Given the description of an element on the screen output the (x, y) to click on. 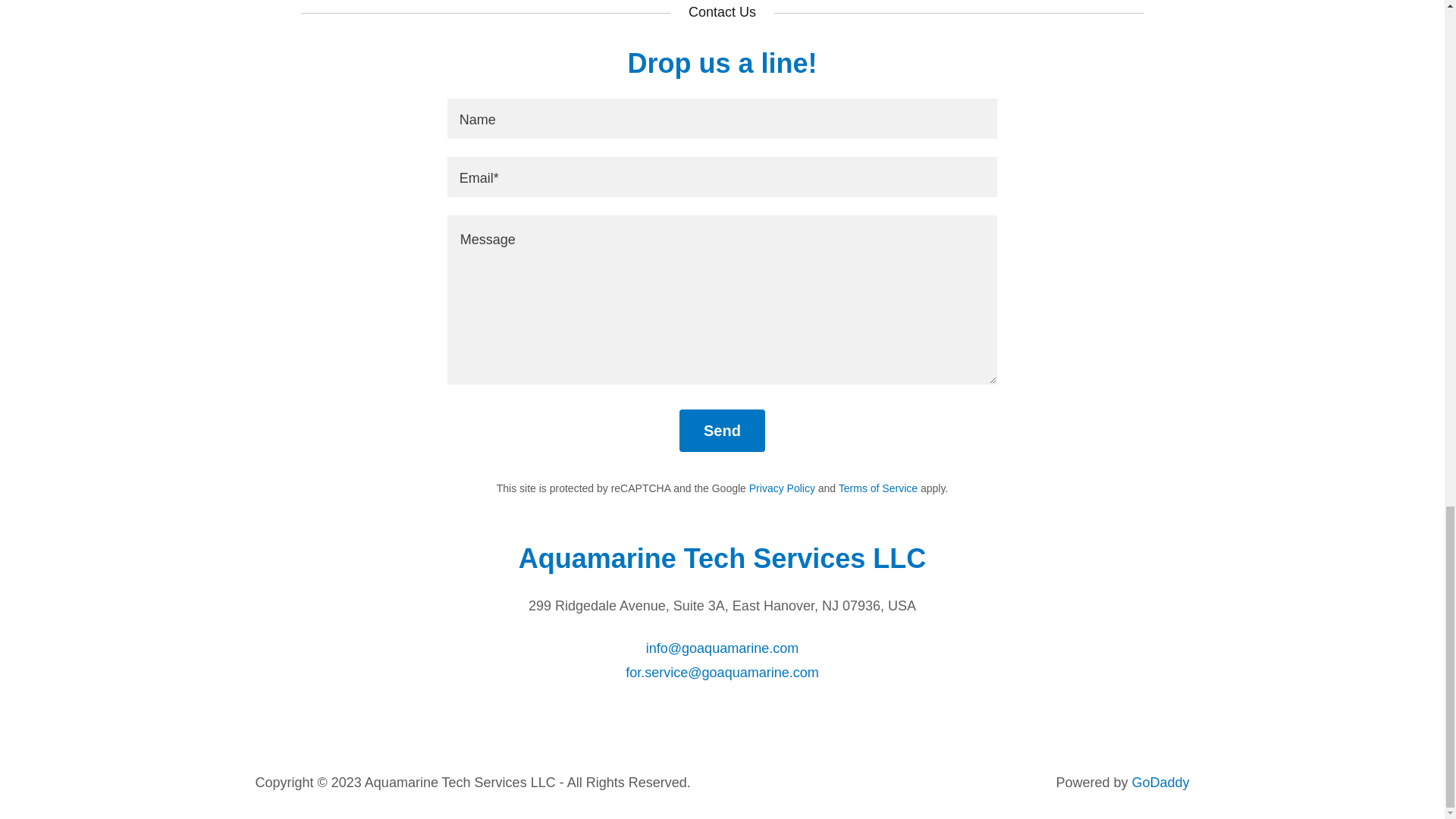
Privacy Policy (782, 488)
Send (722, 430)
Terms of Service (877, 488)
GoDaddy (1160, 782)
